Given the description of an element on the screen output the (x, y) to click on. 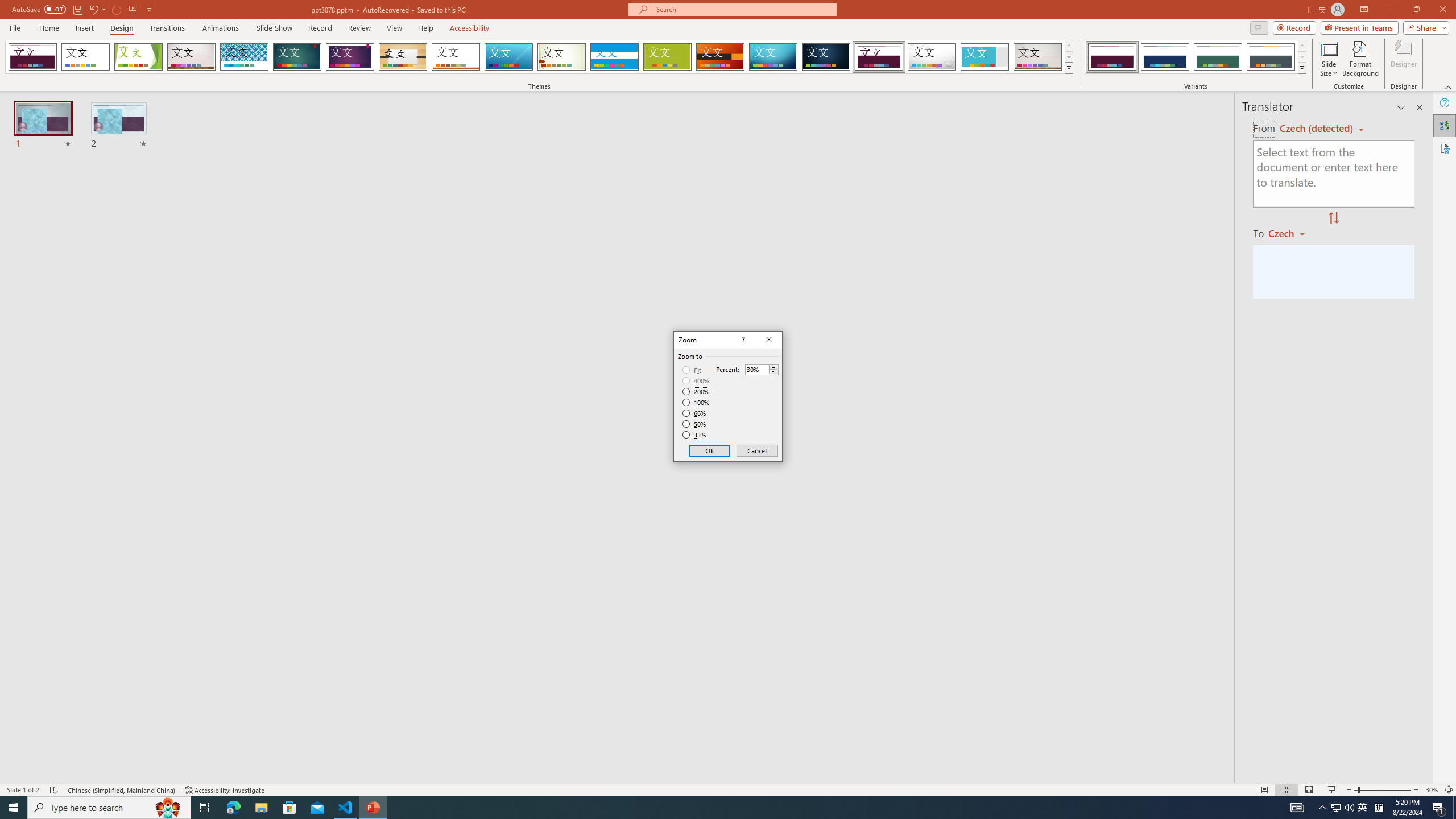
Wisp (561, 56)
Integral (244, 56)
Czech (detected) (1317, 128)
200% (696, 391)
